Given the description of an element on the screen output the (x, y) to click on. 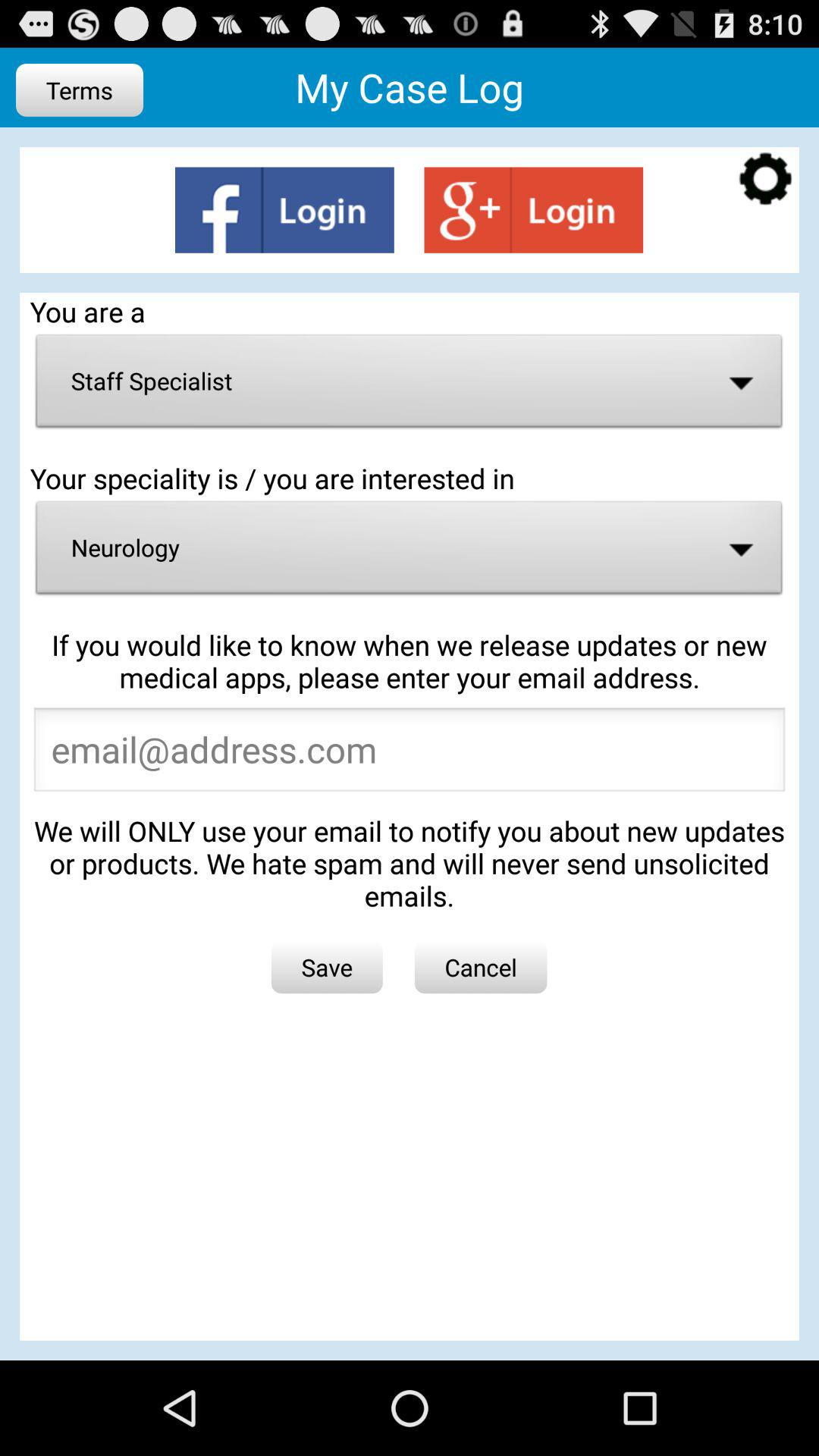
facebook login (284, 210)
